Given the description of an element on the screen output the (x, y) to click on. 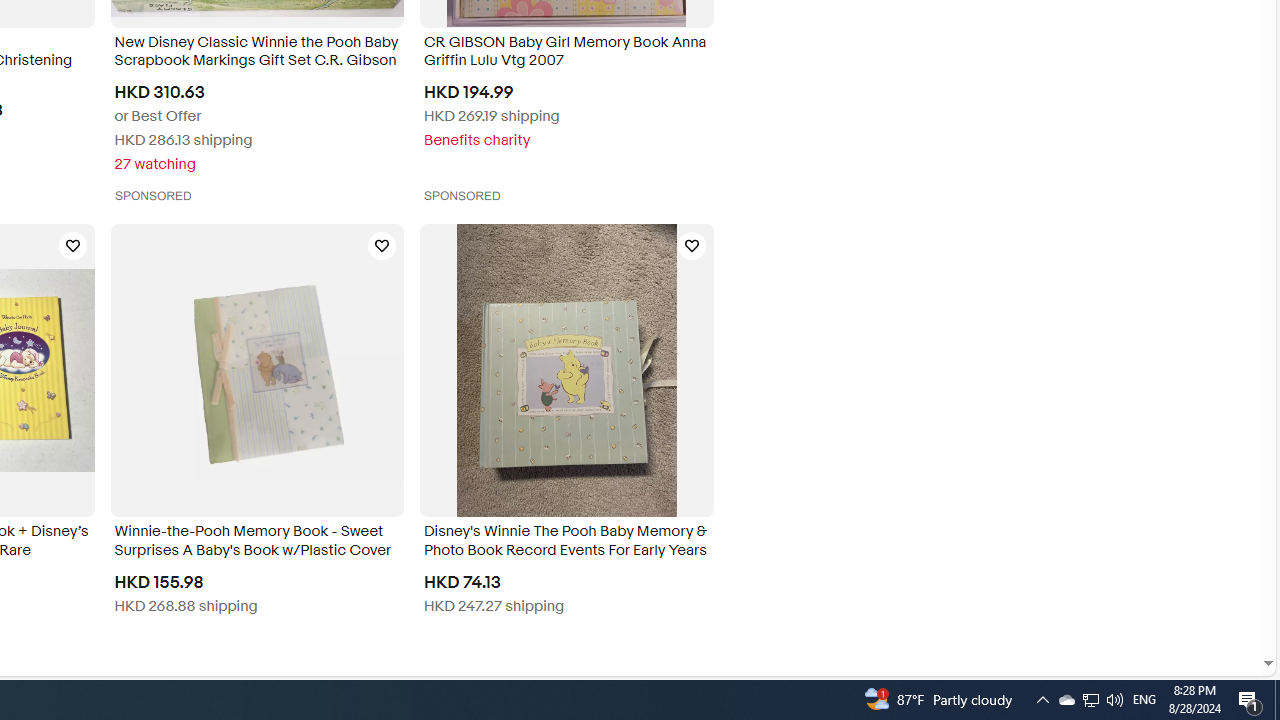
CR GIBSON Baby Girl Memory Book Anna Griffin Lulu Vtg 2007 (566, 53)
